Given the description of an element on the screen output the (x, y) to click on. 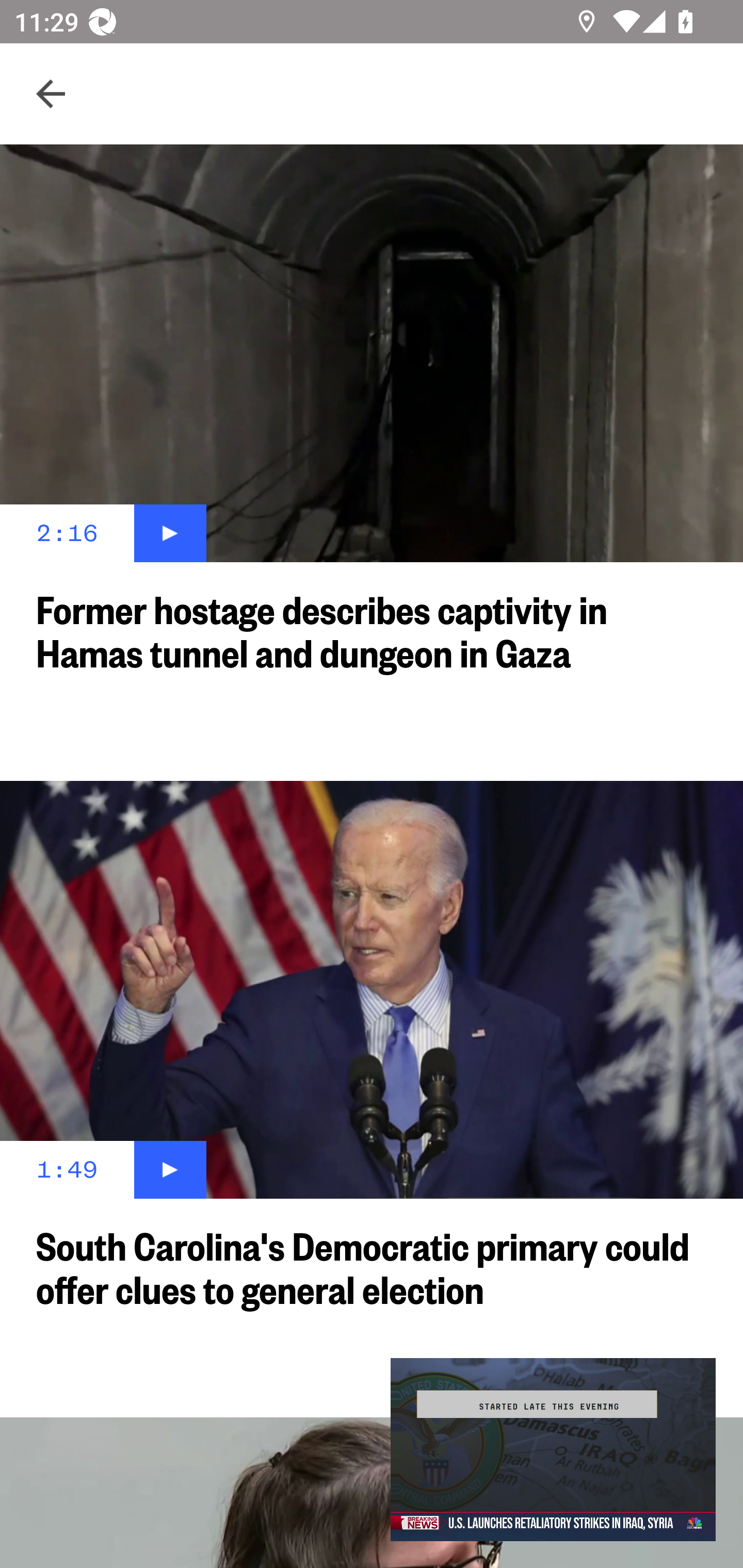
Navigate up (50, 93)
